Given the description of an element on the screen output the (x, y) to click on. 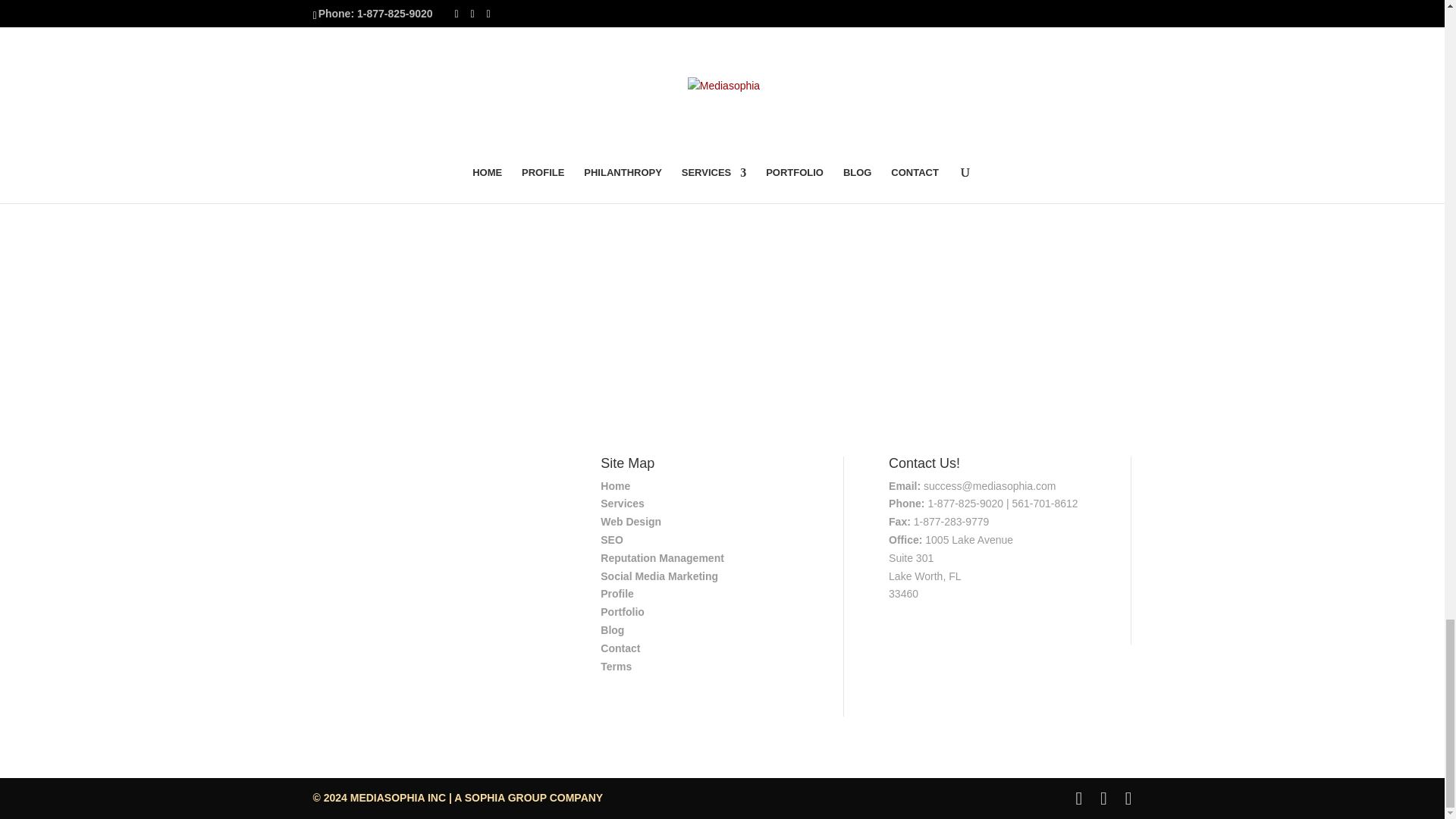
Social Media Marketing (658, 576)
Portfolio (622, 612)
Contact Us Today! (721, 284)
Home (614, 485)
Profile (616, 593)
Web Design (630, 521)
SEO (611, 539)
Reputation Management (661, 558)
Services (622, 503)
